Given the description of an element on the screen output the (x, y) to click on. 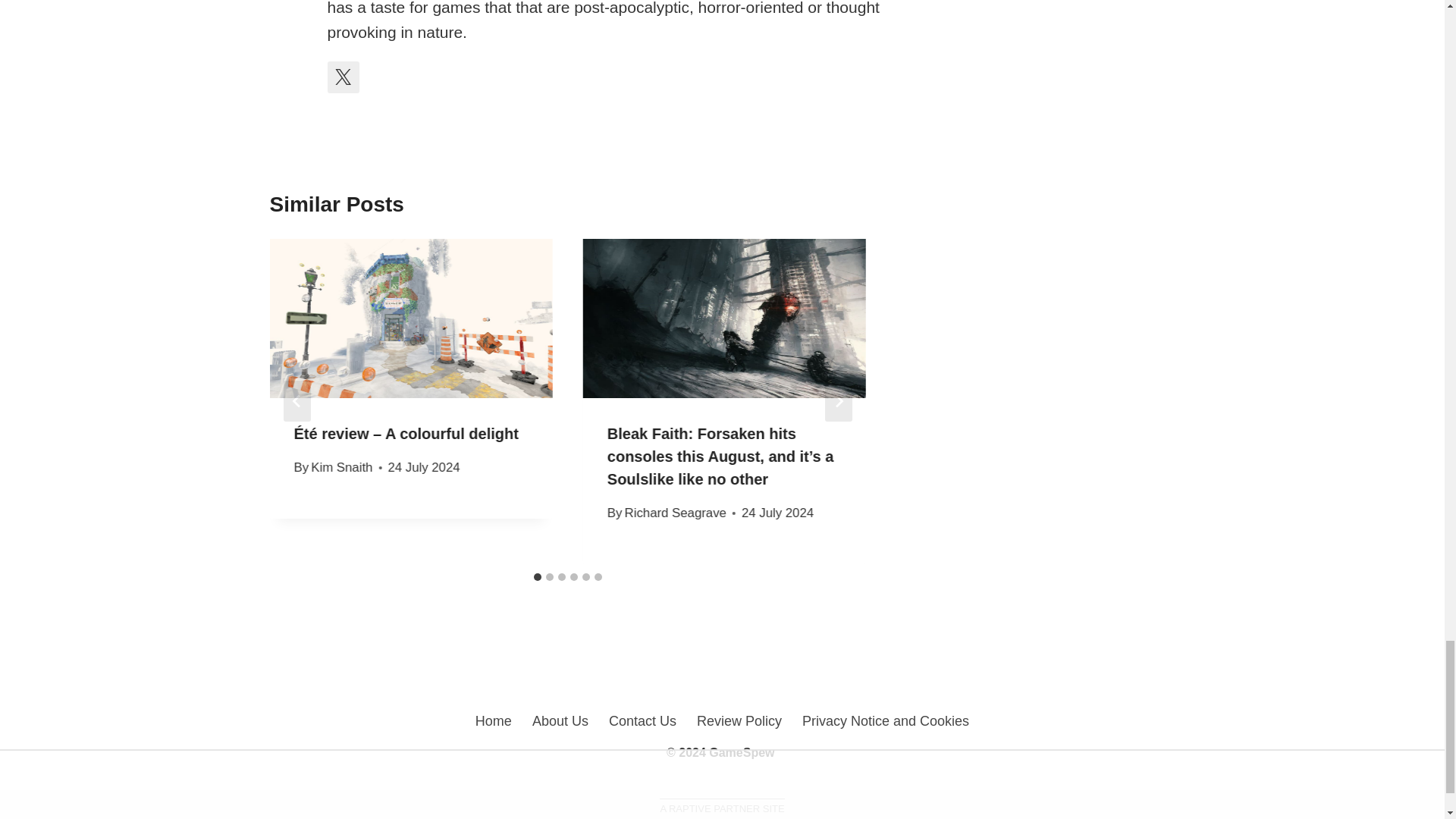
Follow Chris McMullen on X formerly Twitter (343, 77)
